Given the description of an element on the screen output the (x, y) to click on. 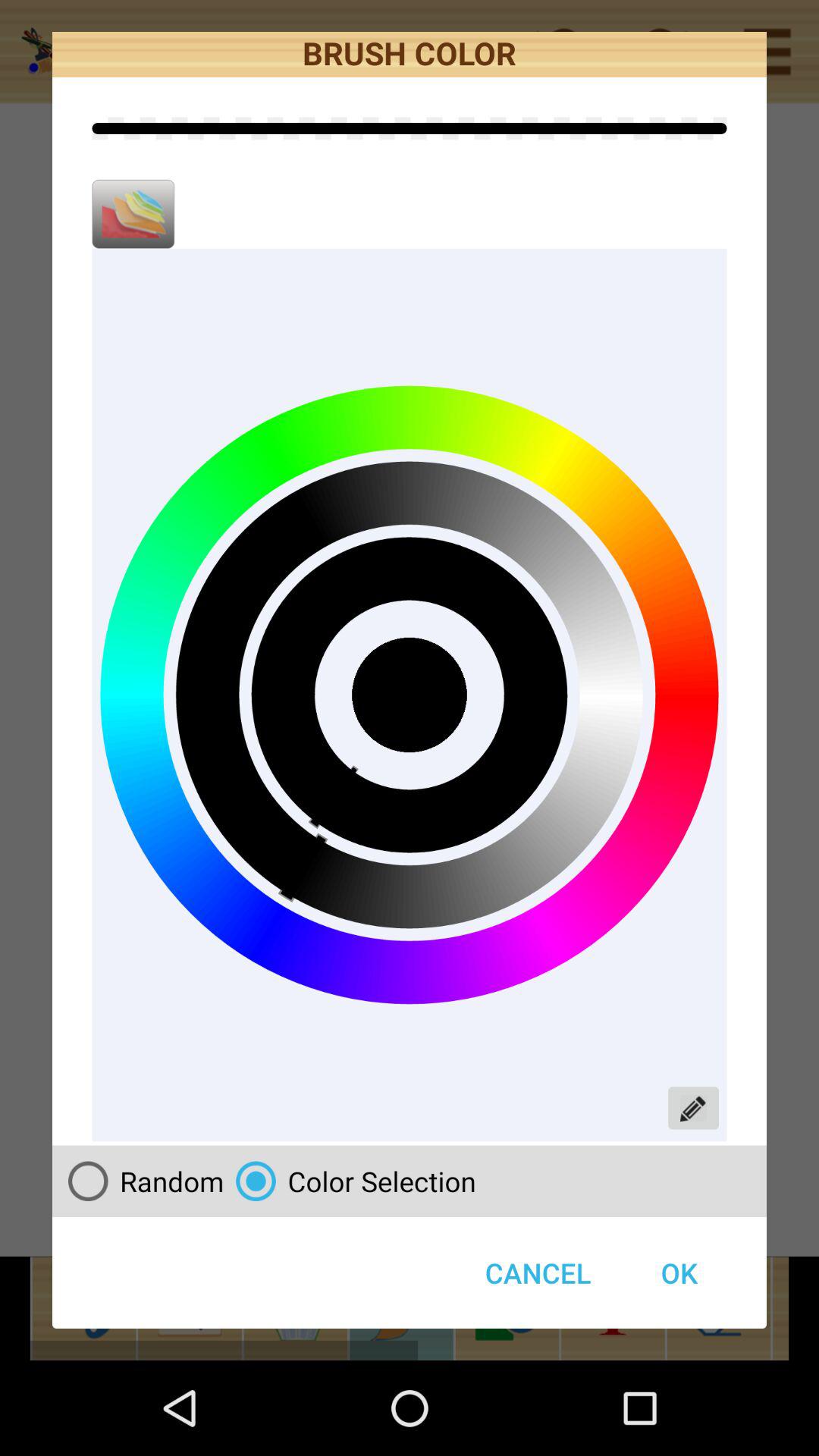
jump to the random (140, 1181)
